Given the description of an element on the screen output the (x, y) to click on. 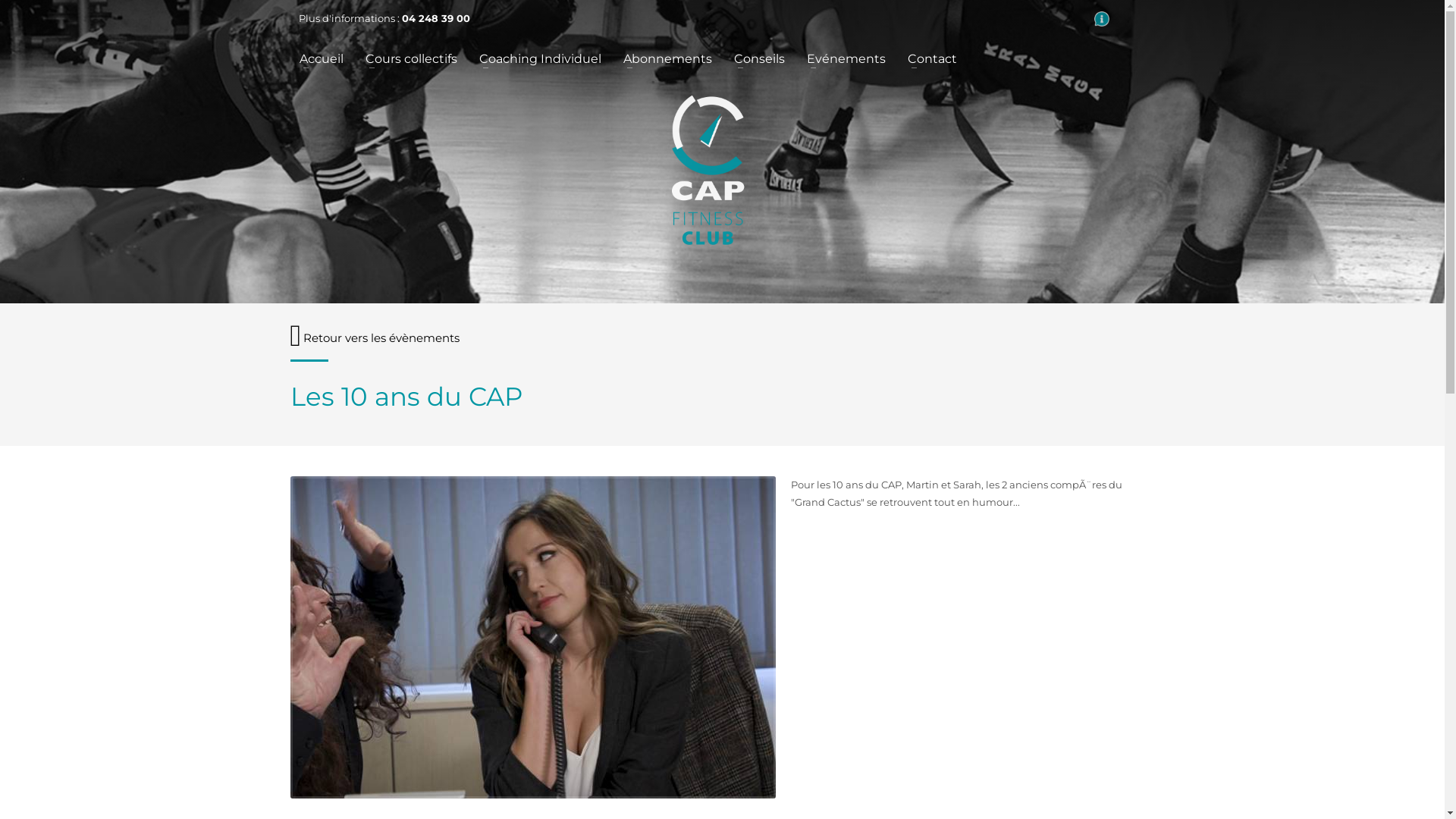
Abonnements Element type: text (667, 58)
Coaching Individuel Element type: text (540, 58)
Contact Element type: text (931, 58)
Cours collectifs Element type: text (411, 58)
CAP Fitness Club Element type: hover (707, 169)
Conseils Element type: text (758, 58)
04 248 39 00 Element type: text (435, 18)
Accueil Element type: text (320, 58)
